Given the description of an element on the screen output the (x, y) to click on. 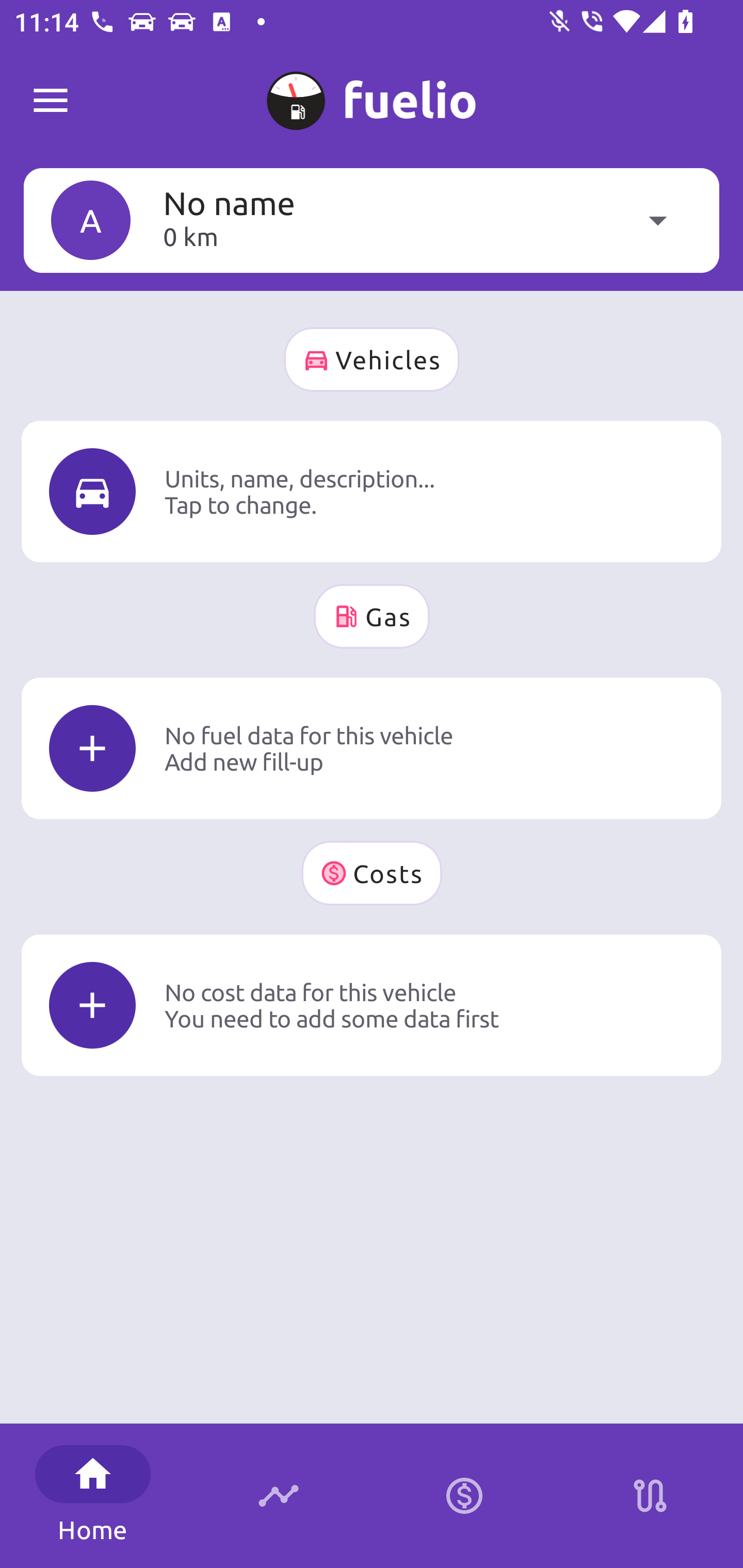
Fuelio (50, 101)
A No name 0 km (371, 219)
Vehicles (371, 359)
Icon Units, name, description...
Tap to change. (371, 491)
Icon (92, 491)
Gas (371, 616)
Icon No fuel data for this vehicle
Add new fill-up (371, 747)
Icon (92, 748)
Costs (371, 873)
Icon (92, 1004)
Timeline (278, 1495)
Calculator (464, 1495)
Stations on route (650, 1495)
